Given the description of an element on the screen output the (x, y) to click on. 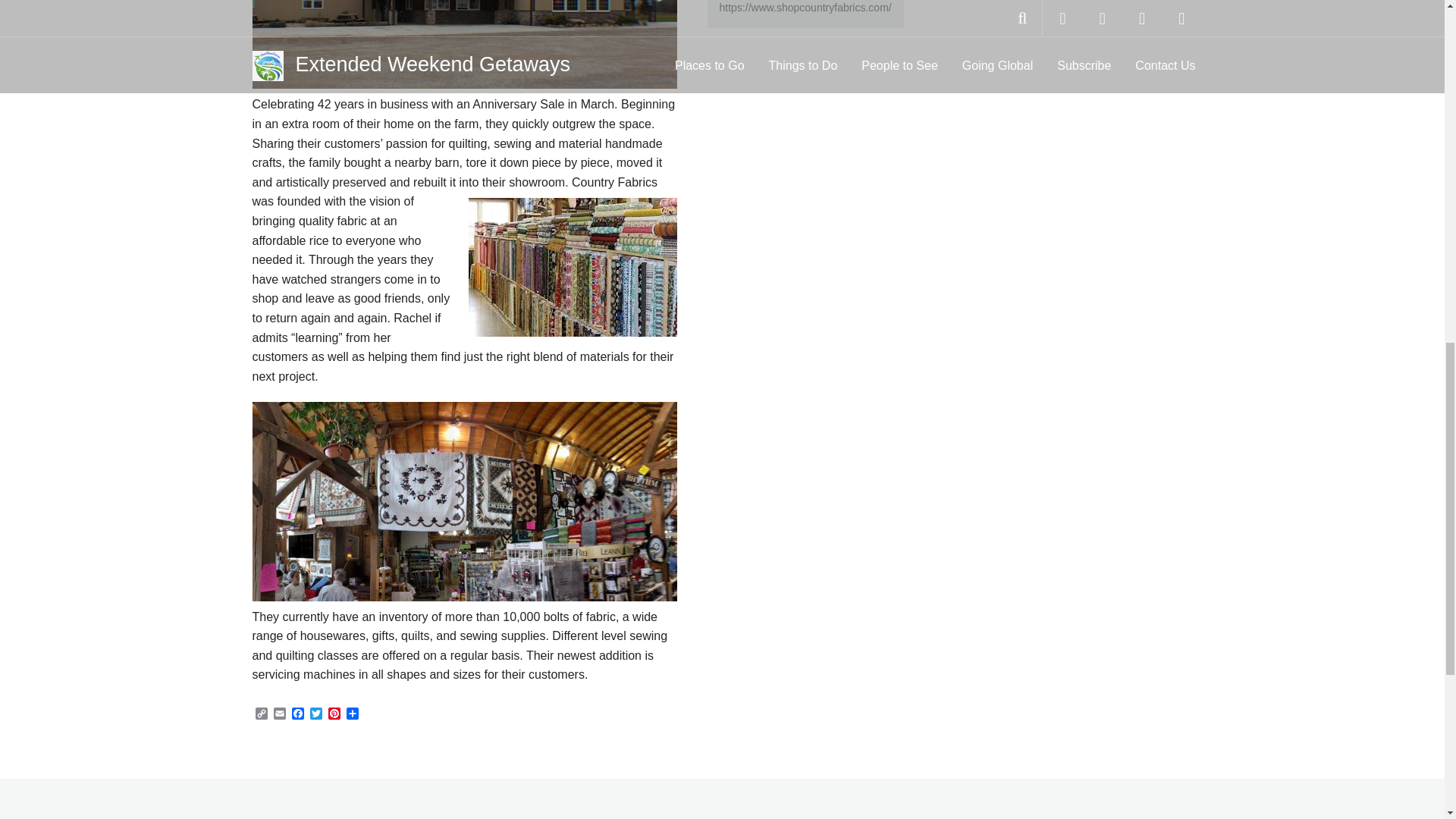
Email (278, 714)
Twitter (314, 714)
Copy Link (260, 714)
Email (278, 714)
Pinterest (333, 714)
Copy Link (260, 714)
Facebook (296, 714)
Pinterest (333, 714)
Share (351, 714)
Facebook (296, 714)
Twitter (314, 714)
